Given the description of an element on the screen output the (x, y) to click on. 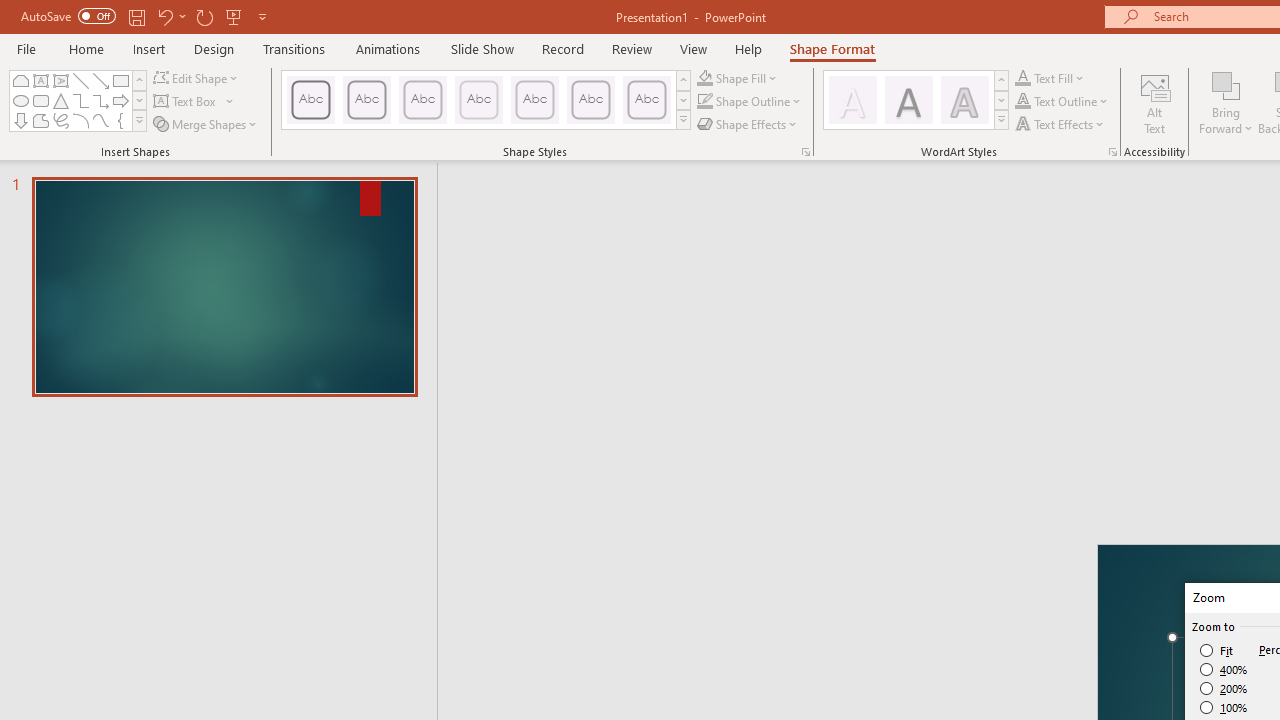
Rectangle: Top Corners Snipped (20, 80)
Edit Shape (196, 78)
400% (1224, 669)
Text Fill (1050, 78)
Colored Outline - Orange, Accent 2 (422, 100)
